Given the description of an element on the screen output the (x, y) to click on. 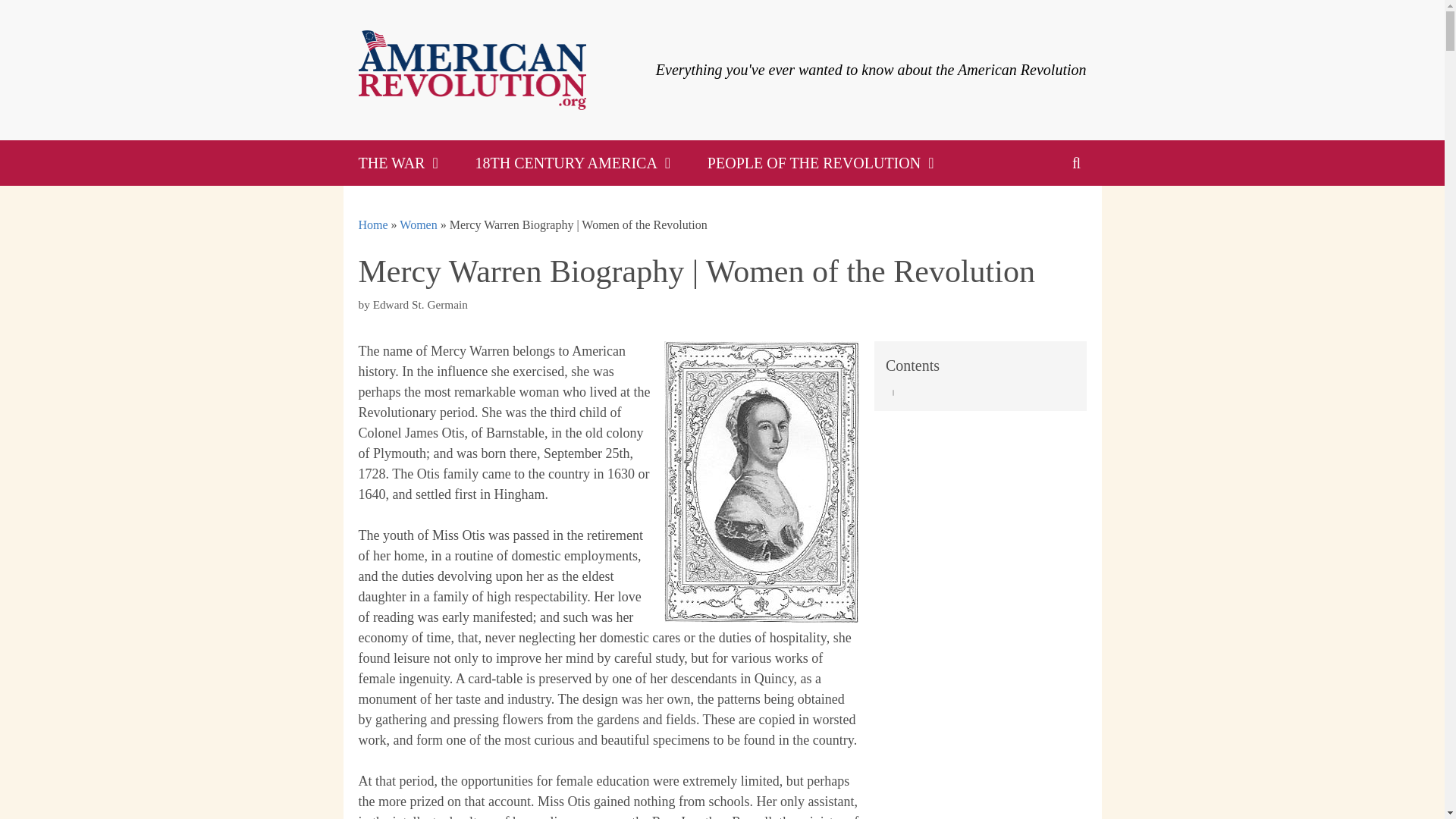
THE WAR (401, 162)
